Given the description of an element on the screen output the (x, y) to click on. 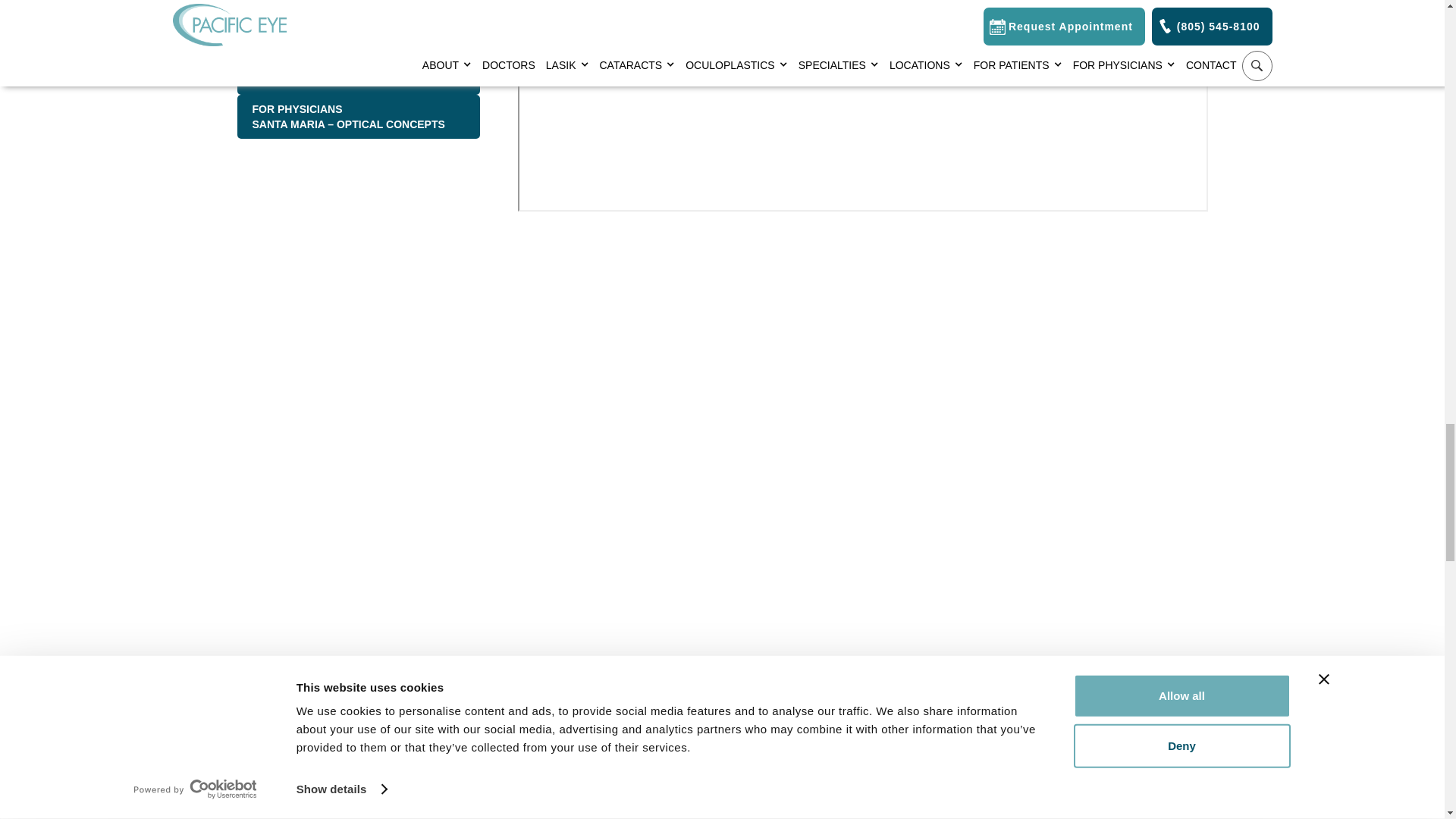
Pismo Beach (357, 3)
Santa Maria (357, 72)
San Luis Obispo (357, 28)
